Given the description of an element on the screen output the (x, y) to click on. 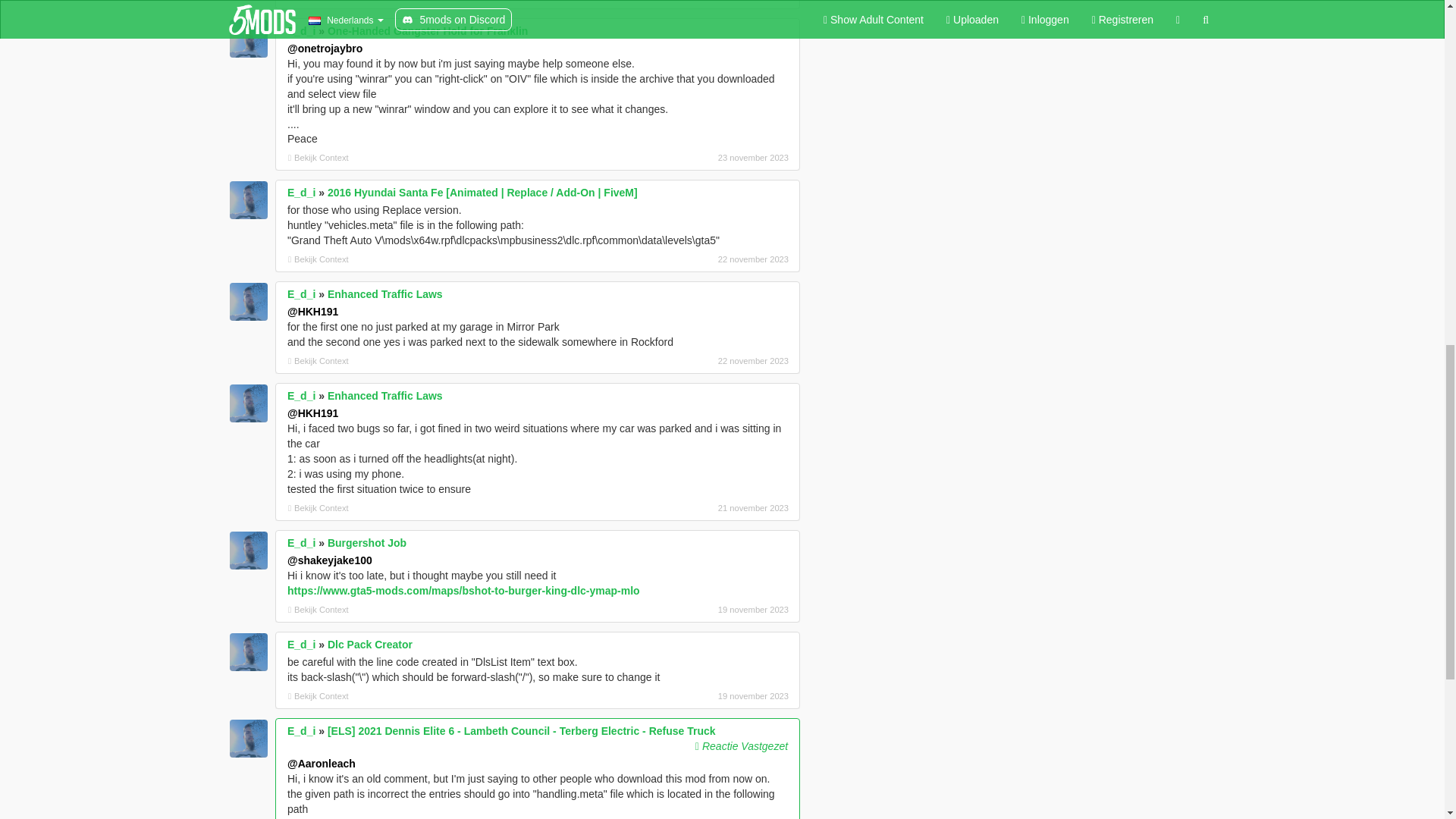
za 25 nov 2023 07:43:17 UTC (708, 1)
zo 19 nov 2023 04:47:14 UTC (708, 695)
di 21 nov 2023 12:31:33 UTC (708, 508)
wo 22 nov 2023 12:16:24 UTC (708, 259)
do 23 nov 2023 13:42:07 UTC (708, 157)
wo 22 nov 2023 06:27:23 UTC (708, 360)
zo 19 nov 2023 14:18:52 UTC (708, 609)
